Given the description of an element on the screen output the (x, y) to click on. 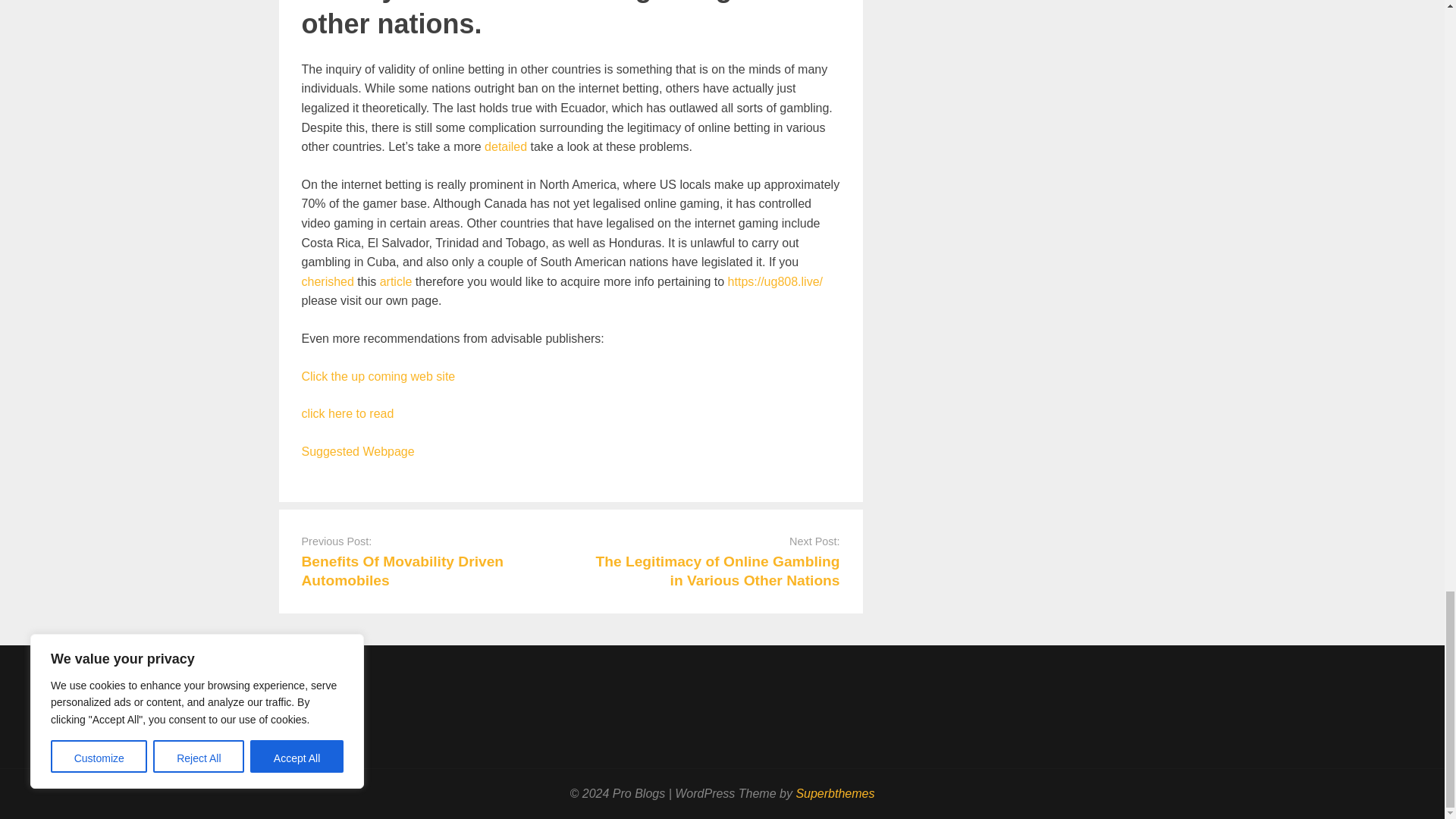
click here to read (347, 413)
Suggested Webpage (357, 451)
detailed (505, 146)
Benefits Of Movability Driven Automobiles (402, 570)
cherished (327, 281)
The Legitimacy of Online Gambling in Various Other Nations (717, 570)
Click the up coming web site (378, 376)
article (396, 281)
